Given the description of an element on the screen output the (x, y) to click on. 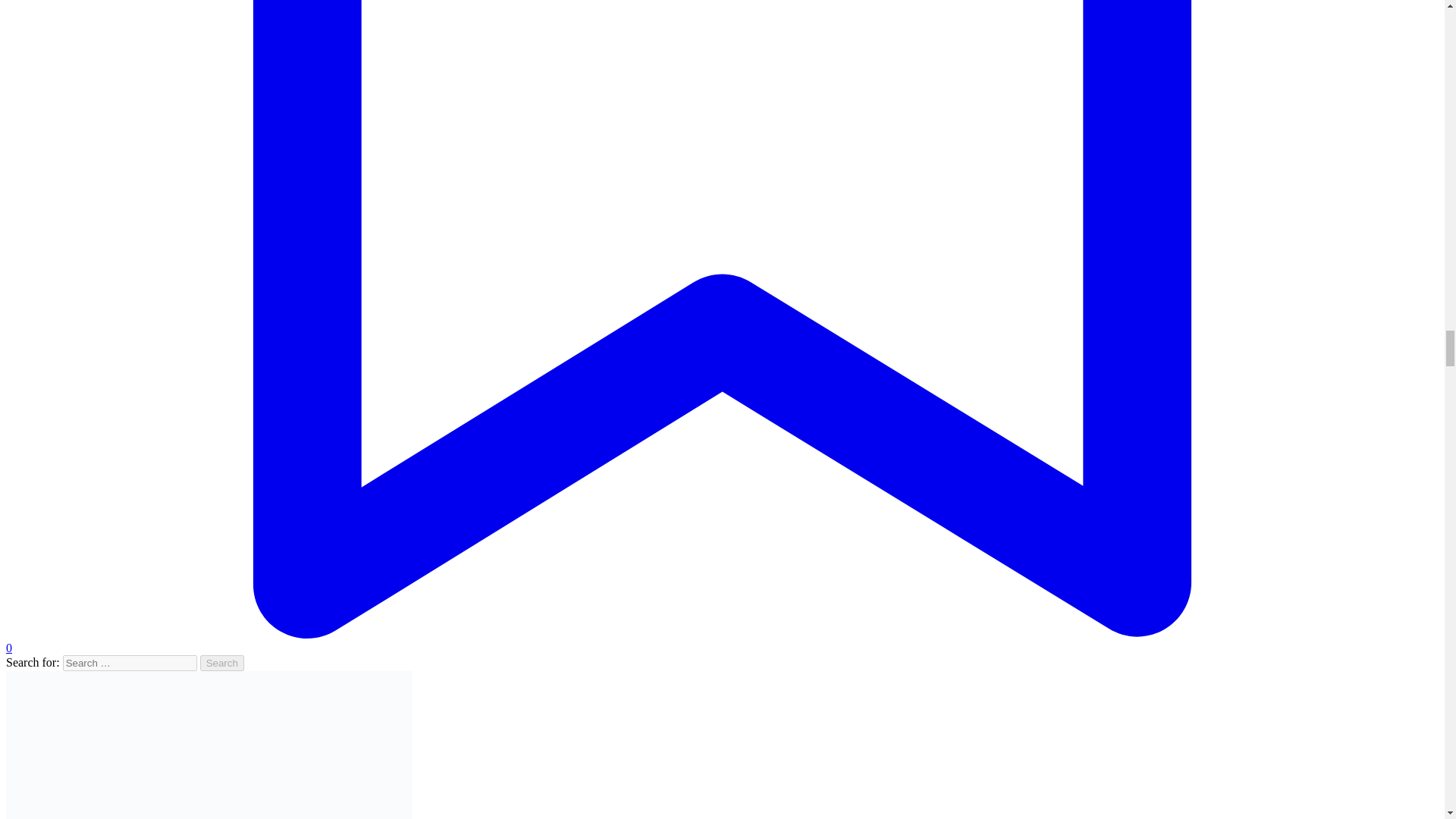
Search (222, 662)
Search (222, 662)
